Given the description of an element on the screen output the (x, y) to click on. 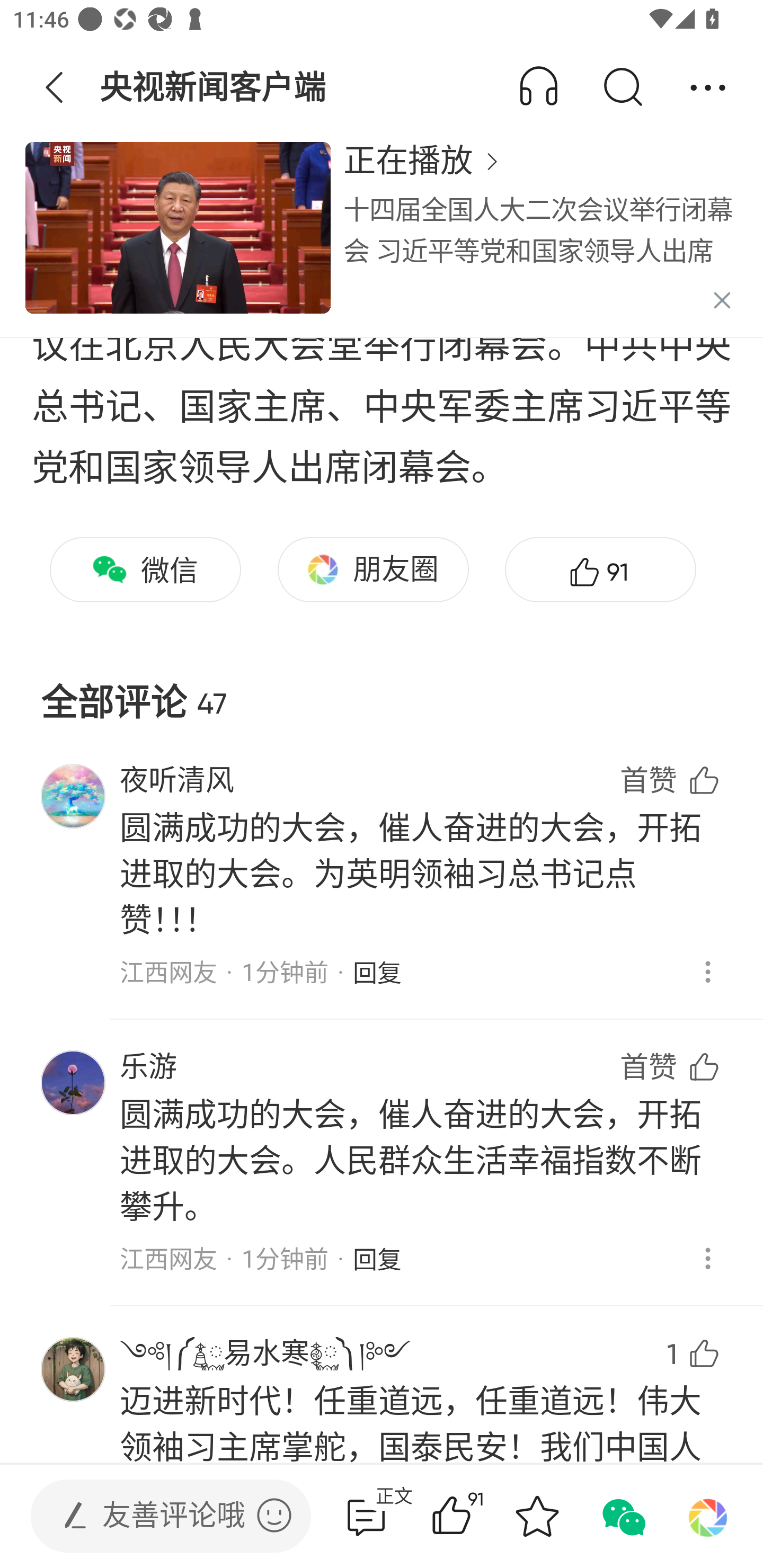
央视新闻客户端 (214, 87)
搜索  (622, 87)
分享  (707, 87)
 返回 (54, 87)
正在播放  十四届全国人大二次会议举行闭幕会 习近平等党和国家领导人出席 (381, 237)
正在播放  十四届全国人大二次会议举行闭幕会 习近平等党和国家领导人出席 (540, 237)
微信 分享到微信 (145, 569)
朋友圈 分享到朋友圈 (373, 569)
91赞 (600, 569)
全部评论 47 (381, 687)
发表评论  友善评论哦 发表评论  (155, 1516)
47评论  正文 正文 (365, 1516)
91赞 (476, 1516)
收藏  (536, 1516)
分享到微信  (622, 1516)
分享到朋友圈 (707, 1516)
 (274, 1515)
